Given the description of an element on the screen output the (x, y) to click on. 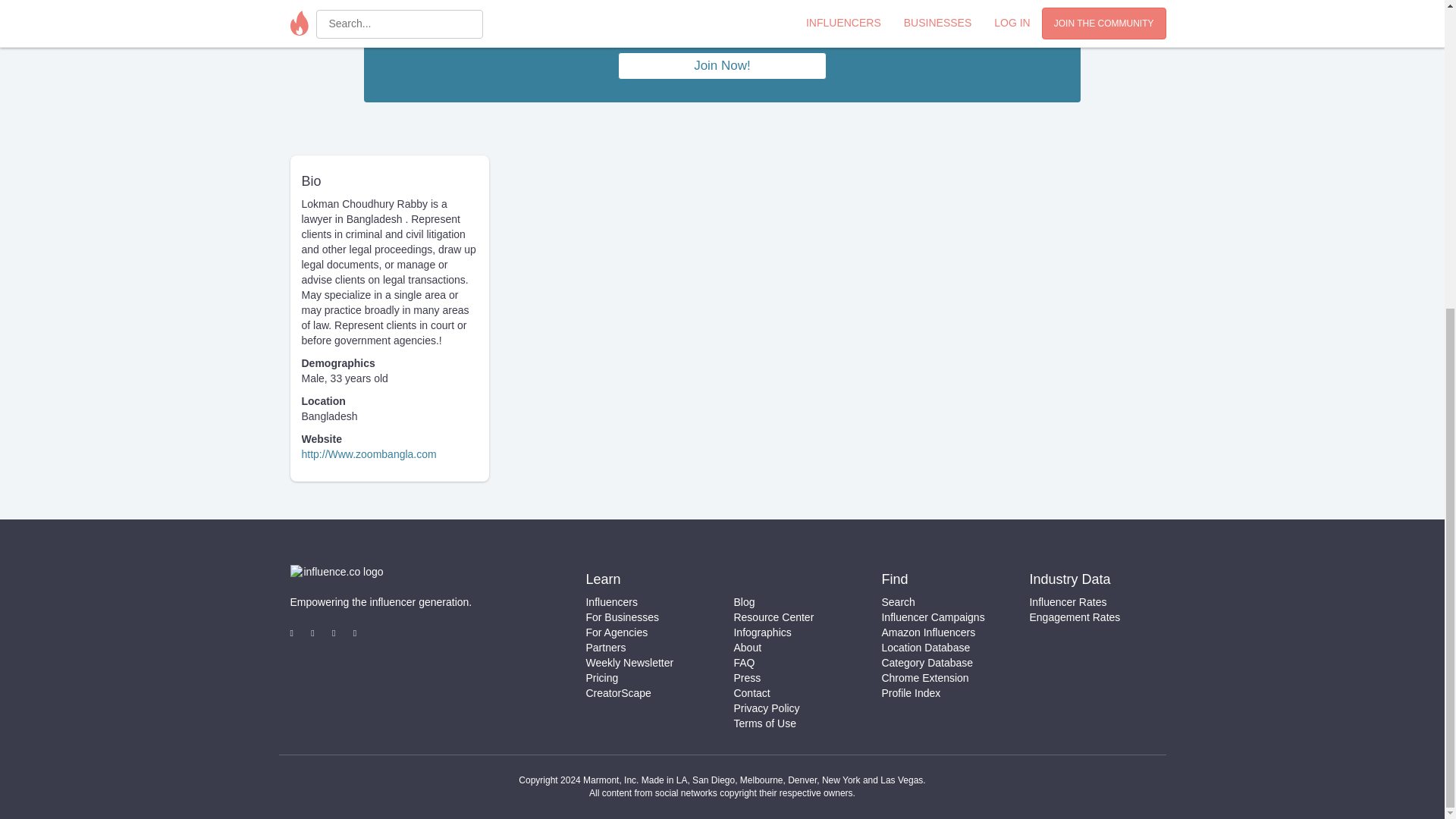
Partners (605, 647)
Join Now! (722, 66)
For Agencies (616, 632)
For Businesses (621, 616)
Influencers (611, 602)
